Given the description of an element on the screen output the (x, y) to click on. 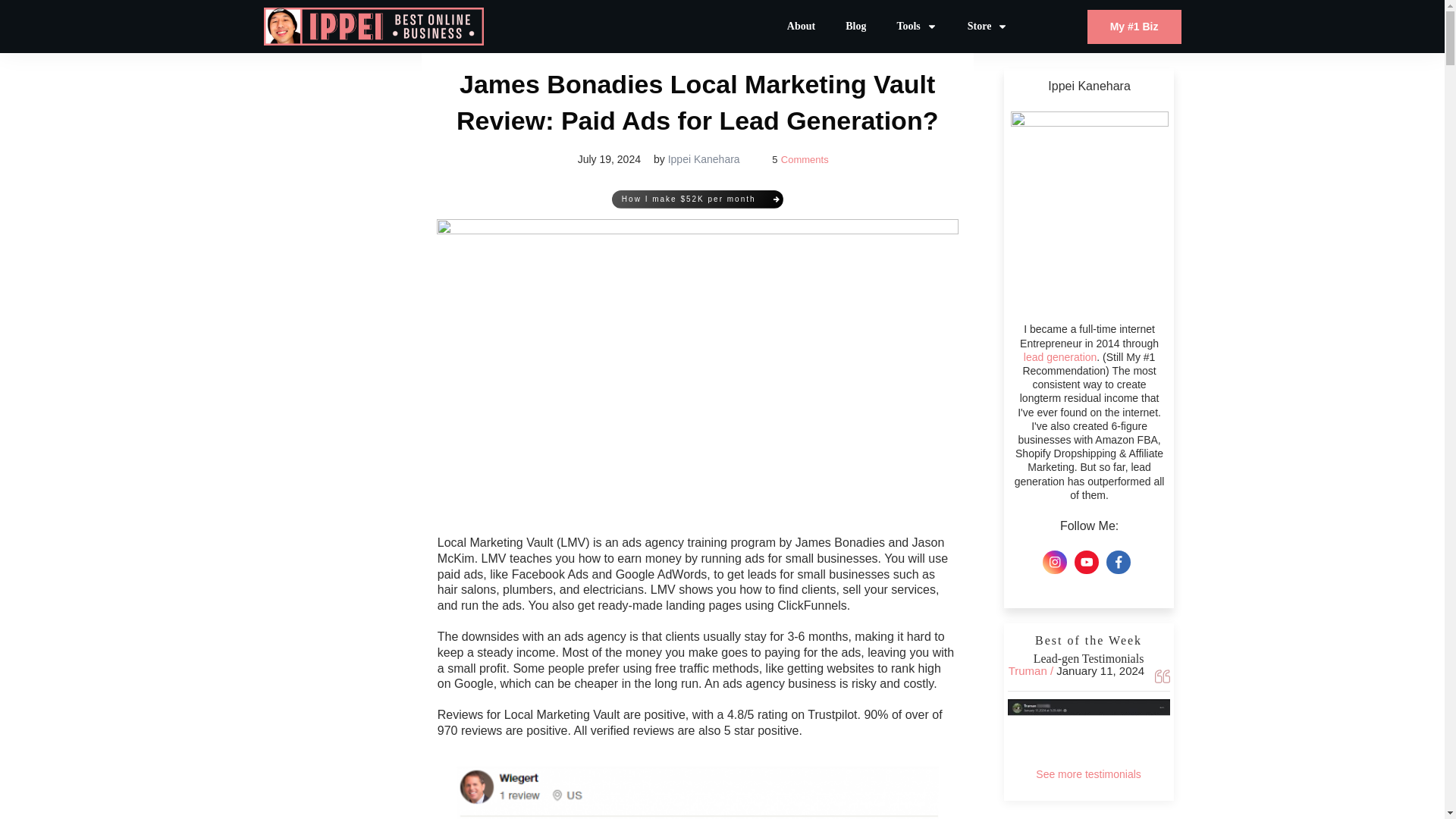
Comments (804, 159)
Tools (916, 25)
Ippei Kanehara (703, 159)
Store (988, 25)
Ippei Kanehara (703, 159)
About (801, 25)
Blog (855, 25)
Comments (804, 159)
local marketing vault review (698, 792)
